Given the description of an element on the screen output the (x, y) to click on. 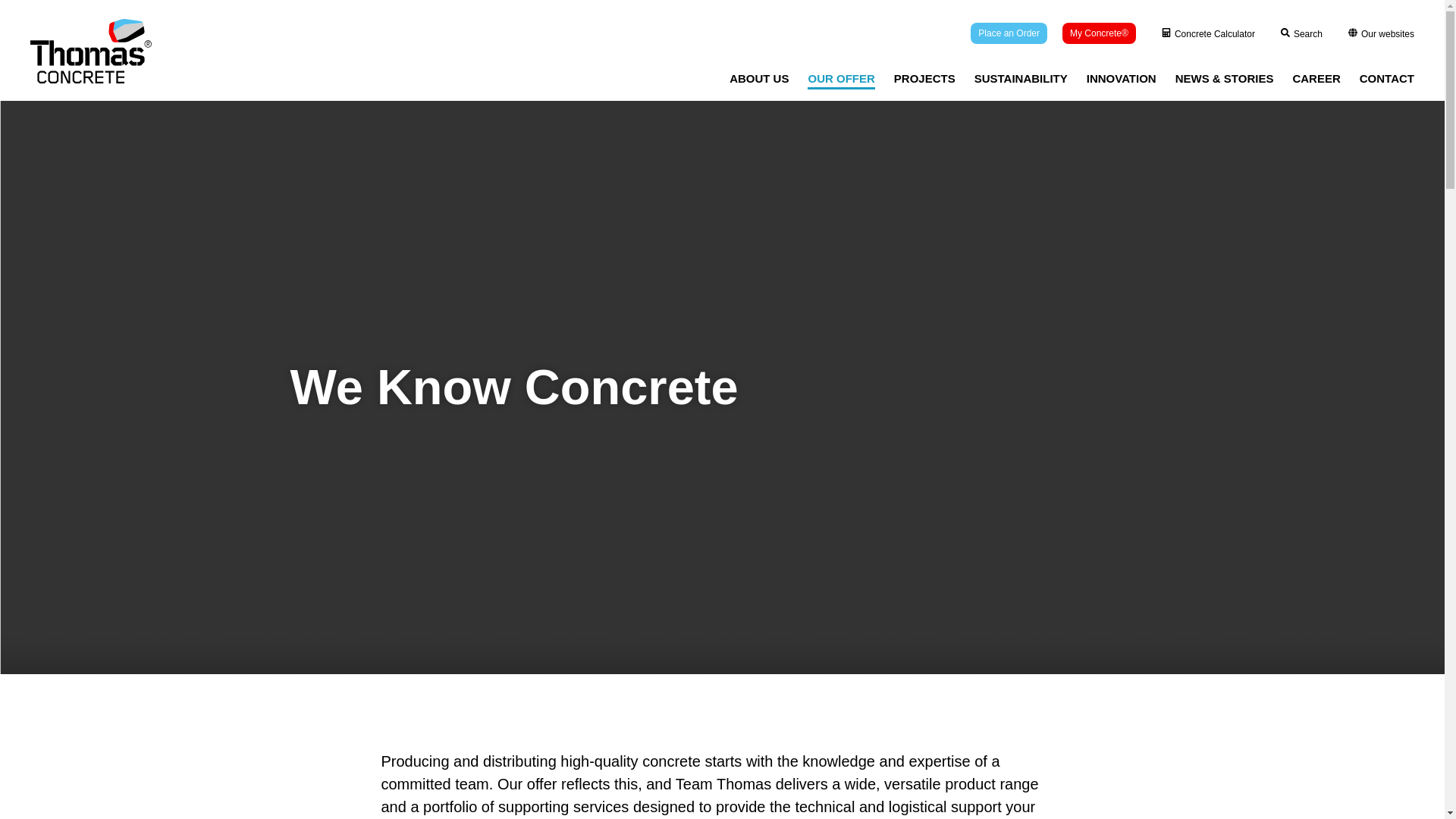
Concrete Calculator (1203, 32)
OUR OFFER (841, 78)
Our websites (1380, 32)
Place an Order (1008, 33)
ABOUT US (759, 78)
SUSTAINABILITY (1020, 78)
Search (1301, 32)
PROJECTS (924, 78)
